Given the description of an element on the screen output the (x, y) to click on. 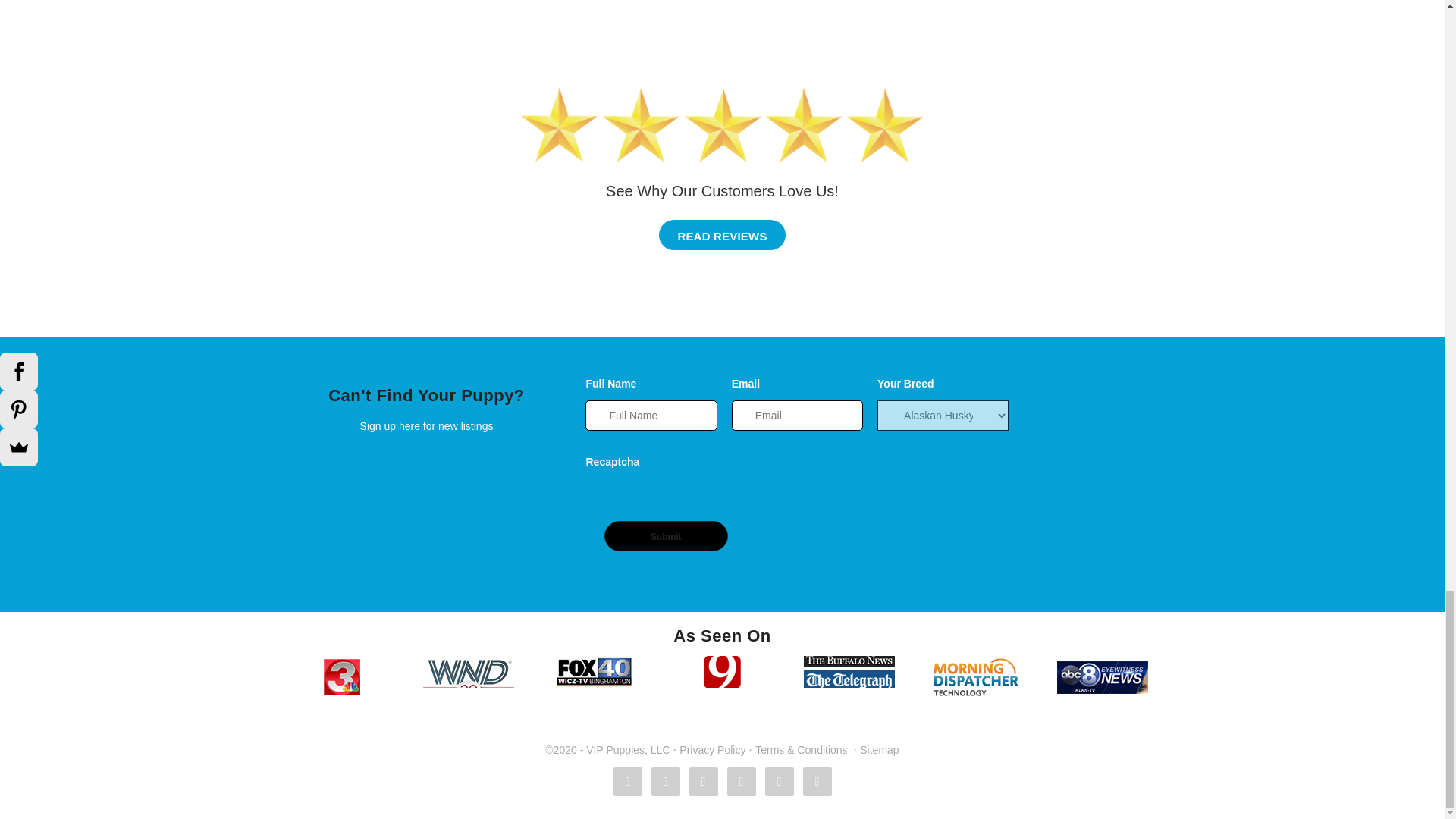
Submit (666, 535)
